Given the description of an element on the screen output the (x, y) to click on. 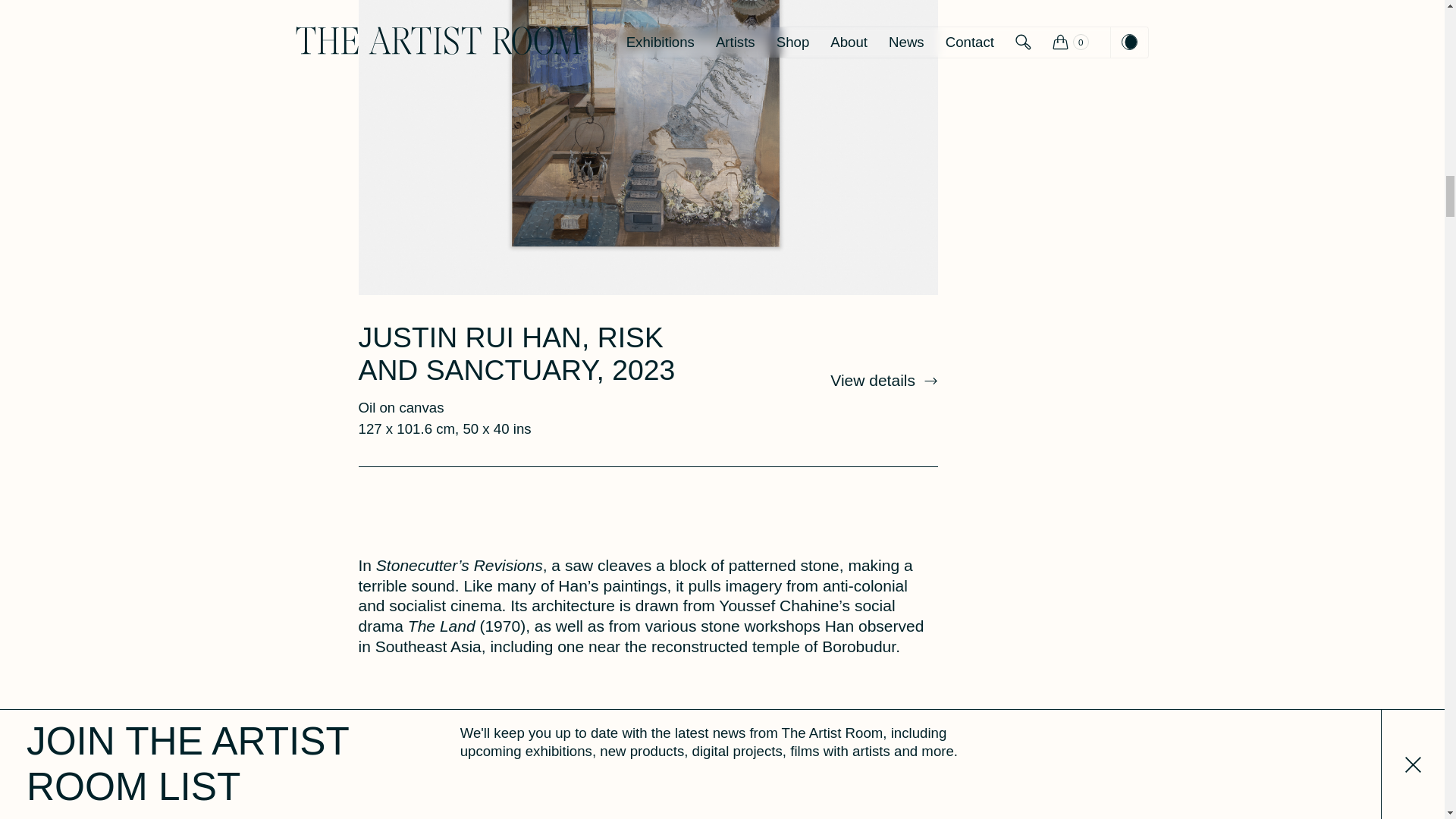
JUSTIN RUI HAN, RISK AND SANCTUARY, 2023 (516, 353)
Page 1 (647, 606)
View details (883, 380)
